Given the description of an element on the screen output the (x, y) to click on. 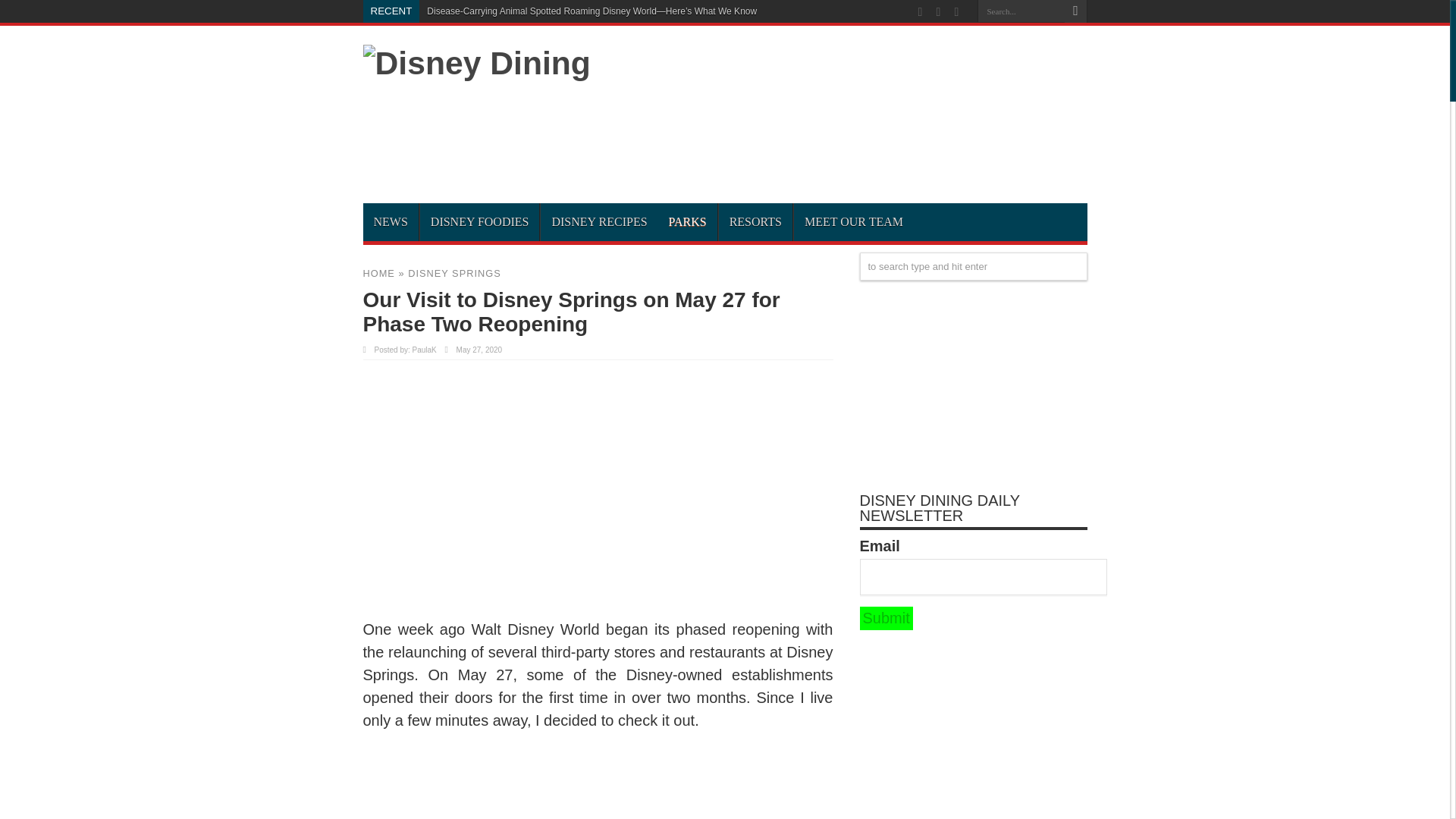
PARKS (687, 221)
DISNEY FOODIES (479, 221)
Search (1075, 11)
Search... (1020, 11)
to search type and hit enter (973, 266)
HOME (378, 273)
NEWS (389, 221)
Disney Dining (475, 63)
MEET OUR TEAM (853, 221)
DISNEY RECIPES (599, 221)
